Given the description of an element on the screen output the (x, y) to click on. 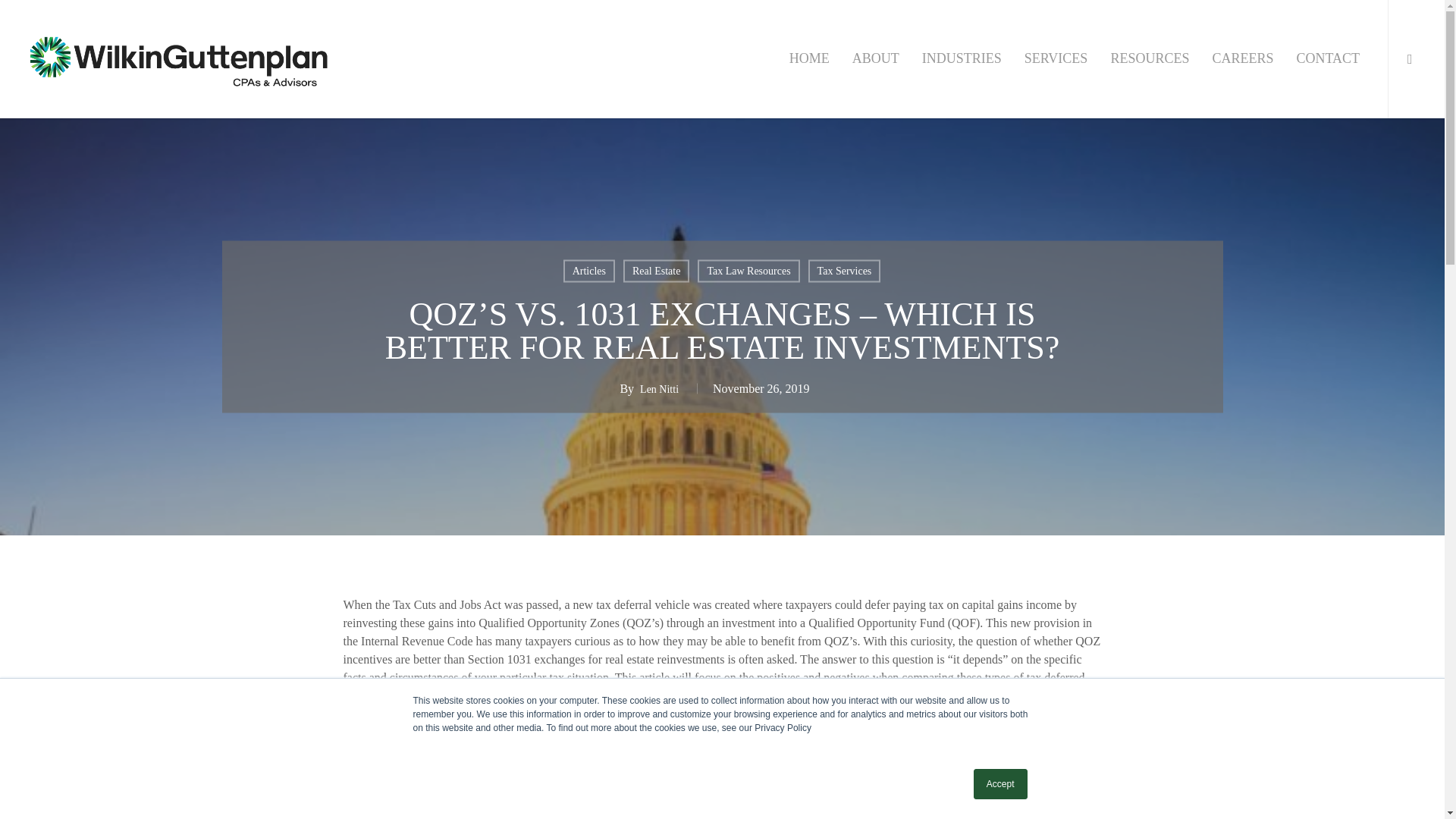
HOME (809, 58)
Accept (1000, 784)
Learn more about Len Nitti (659, 389)
ABOUT (875, 58)
SERVICES (1056, 58)
INDUSTRIES (961, 58)
